Given the description of an element on the screen output the (x, y) to click on. 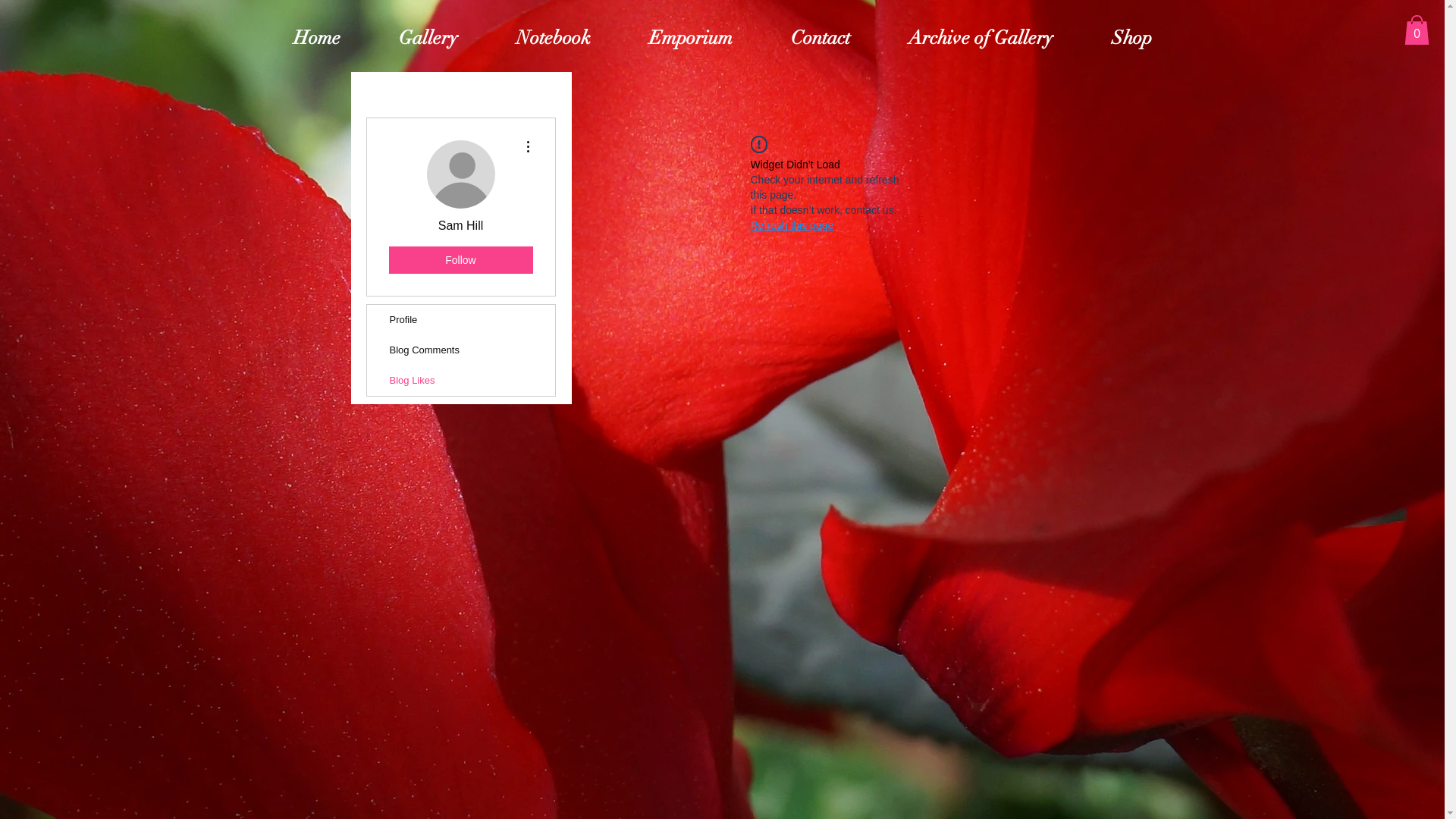
Emporium Element type: text (691, 37)
Follow Element type: text (460, 259)
Blog Likes Element type: text (461, 380)
0 Element type: text (1416, 29)
Blog Comments Element type: text (461, 350)
Contact Element type: text (819, 37)
Archive of Gallery Element type: text (980, 37)
Notebook Element type: text (552, 37)
Profile Element type: text (461, 319)
Shop Element type: text (1131, 37)
Gallery Element type: text (428, 37)
Refresh this page Element type: text (792, 224)
Home Element type: text (316, 37)
